Given the description of an element on the screen output the (x, y) to click on. 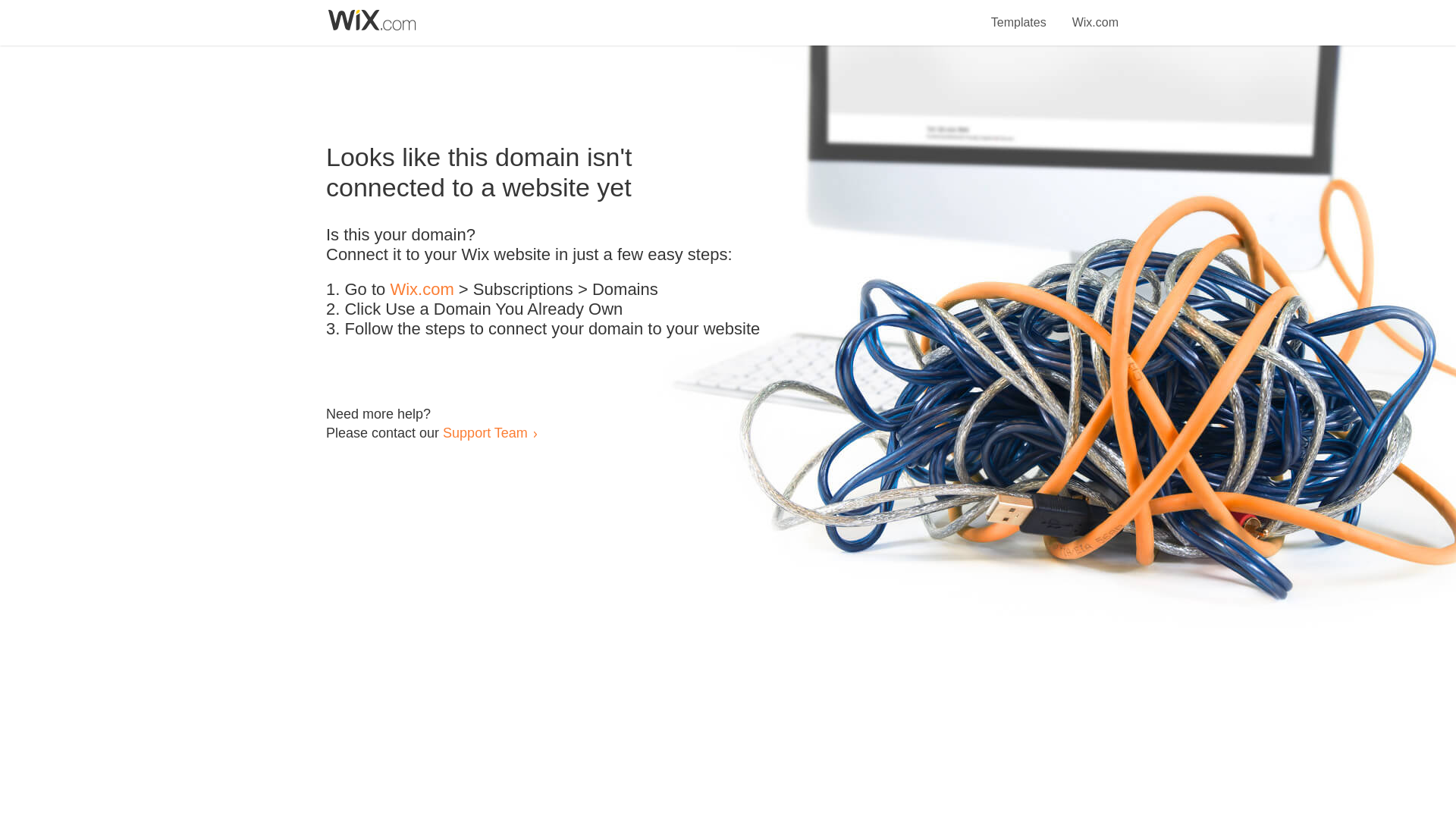
Wix.com (1095, 14)
Wix.com (421, 289)
Templates (1018, 14)
Support Team (484, 432)
